Given the description of an element on the screen output the (x, y) to click on. 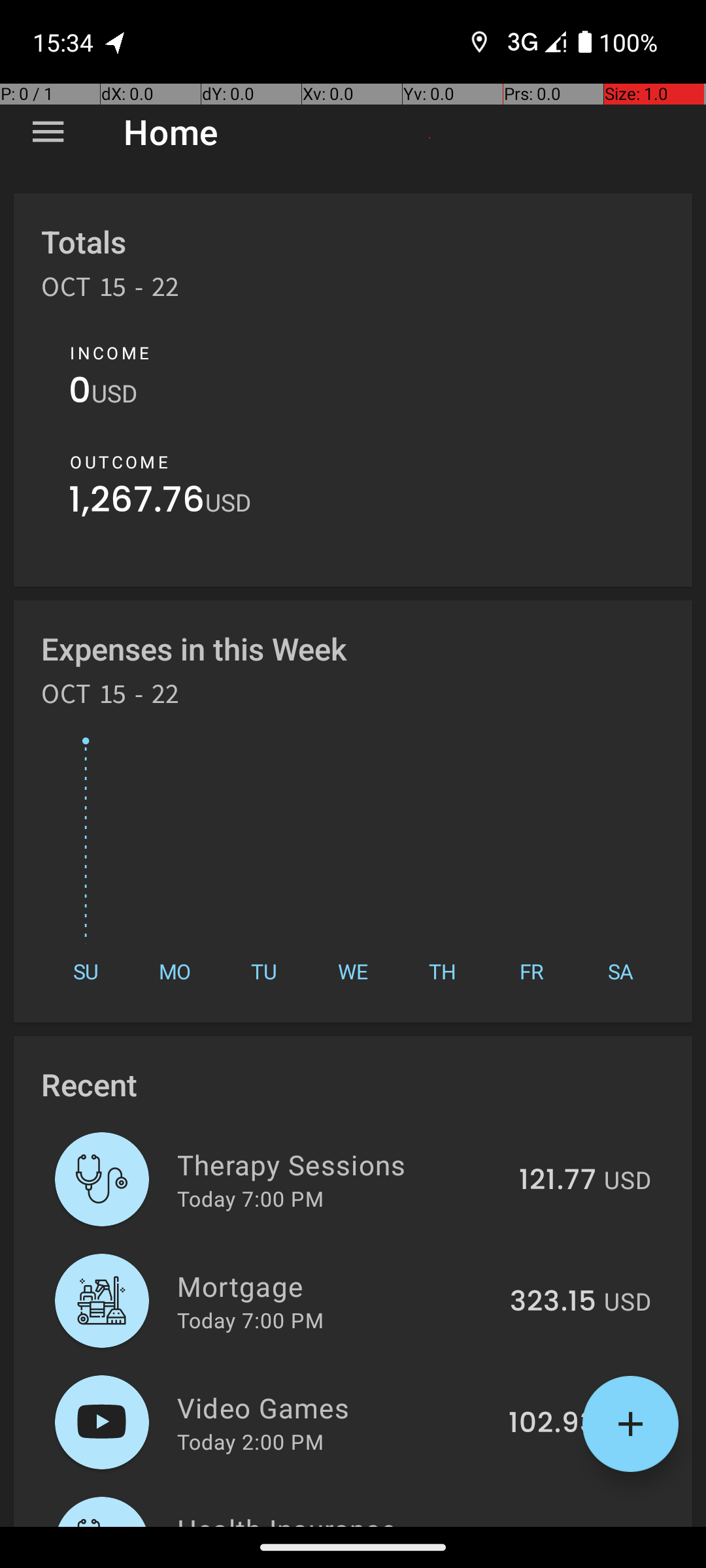
1,267.76 Element type: android.widget.TextView (136, 502)
Therapy Sessions Element type: android.widget.TextView (340, 1164)
Today 7:00 PM Element type: android.widget.TextView (250, 1198)
121.77 Element type: android.widget.TextView (557, 1180)
Mortgage Element type: android.widget.TextView (335, 1285)
323.15 Element type: android.widget.TextView (552, 1301)
Video Games Element type: android.widget.TextView (335, 1407)
Today 2:00 PM Element type: android.widget.TextView (250, 1441)
102.93 Element type: android.widget.TextView (551, 1423)
Health Insurance Element type: android.widget.TextView (340, 1518)
297.6 Element type: android.widget.TextView (557, 1524)
